Given the description of an element on the screen output the (x, y) to click on. 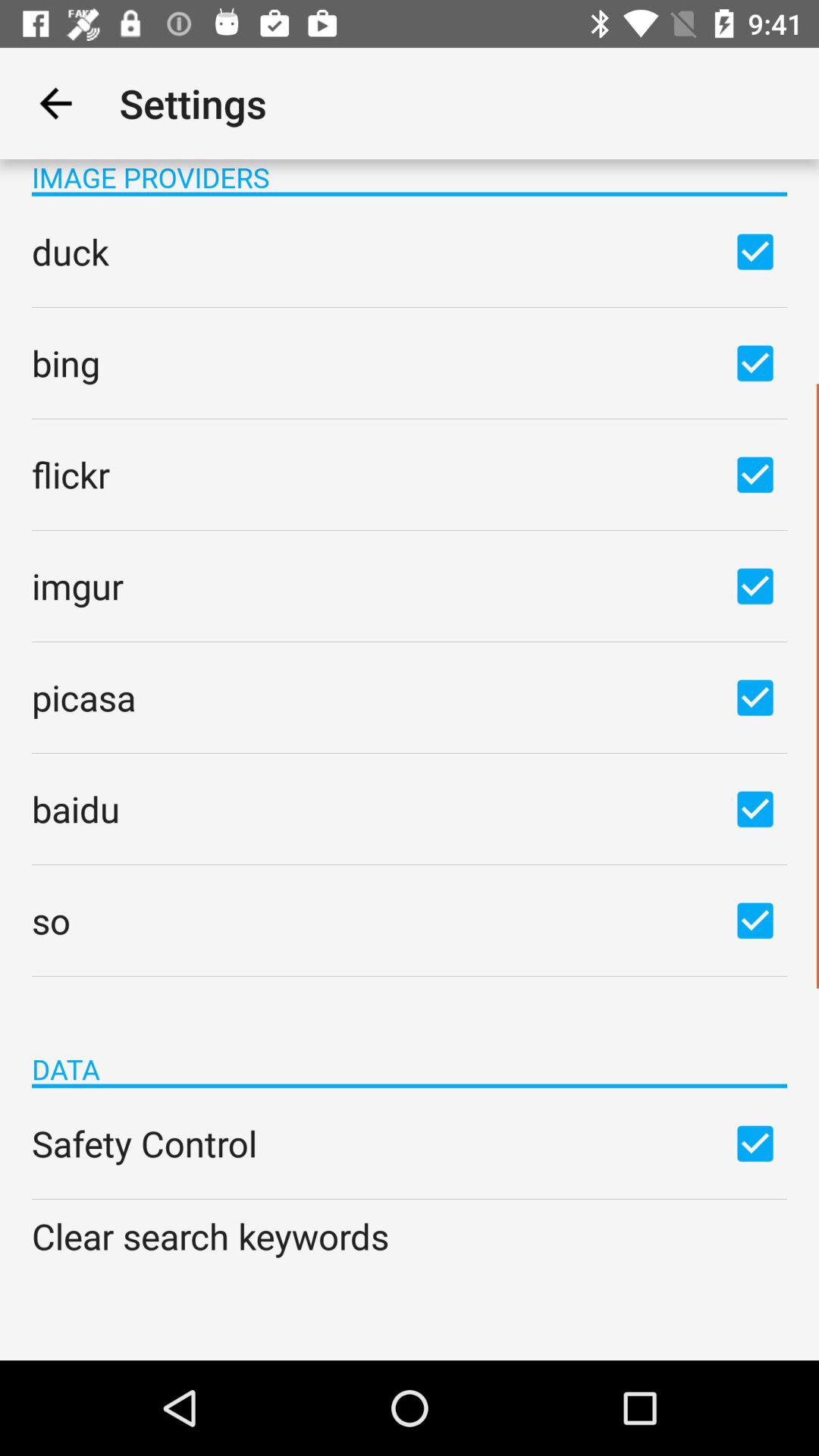
uncheck box (755, 362)
